Given the description of an element on the screen output the (x, y) to click on. 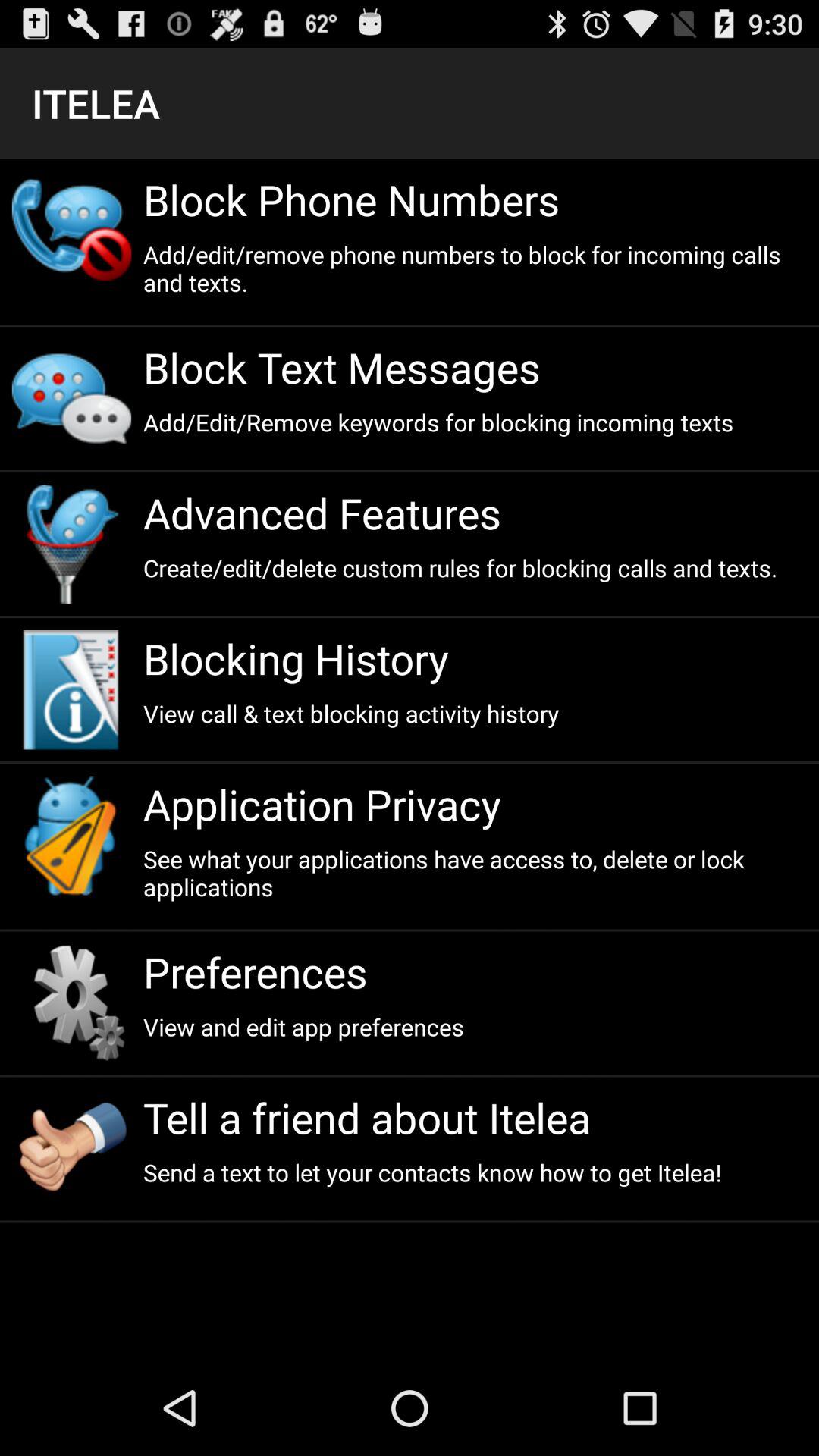
press the app above send a text icon (475, 1117)
